Given the description of an element on the screen output the (x, y) to click on. 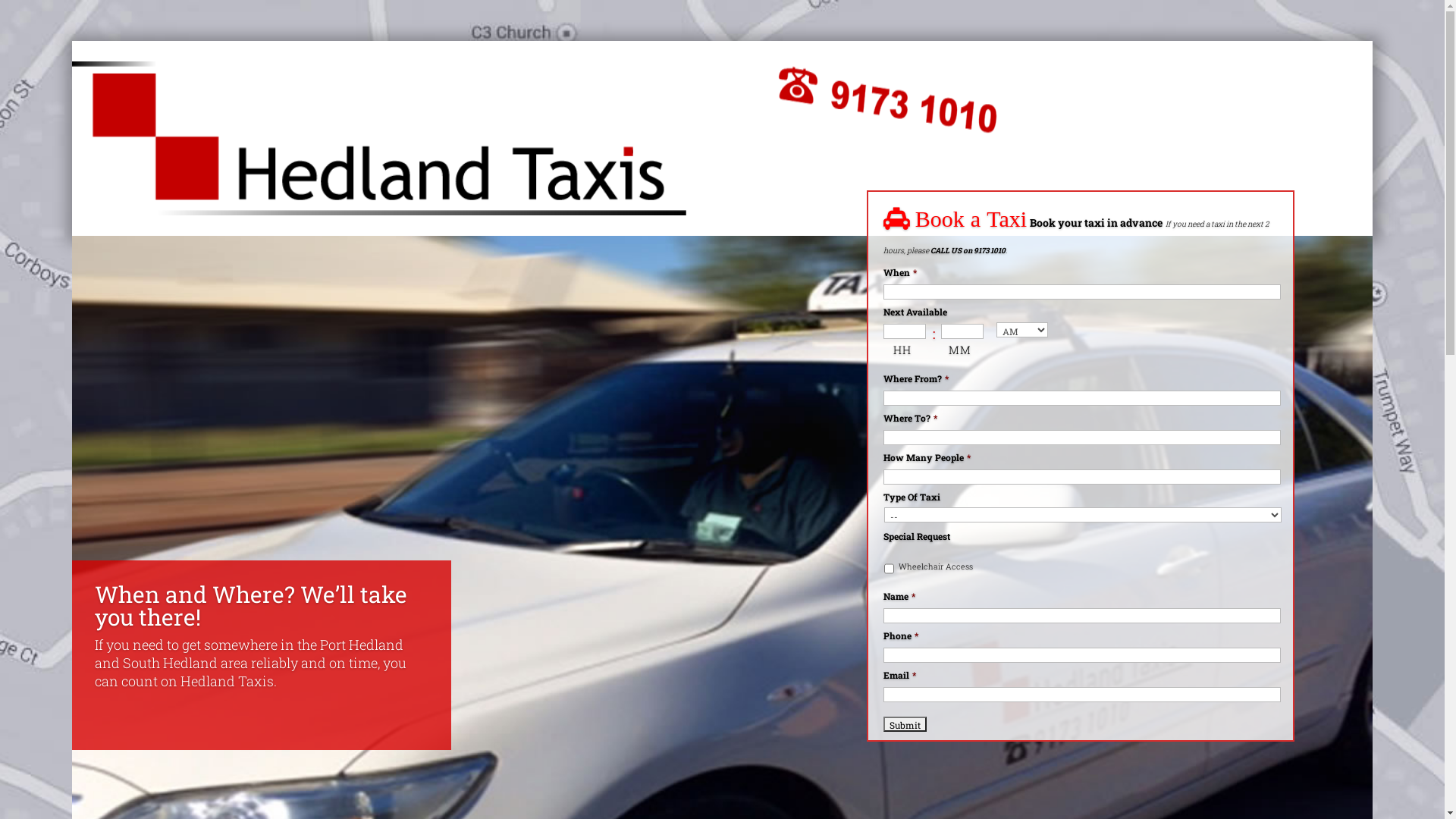
Submit Element type: text (904, 723)
